Given the description of an element on the screen output the (x, y) to click on. 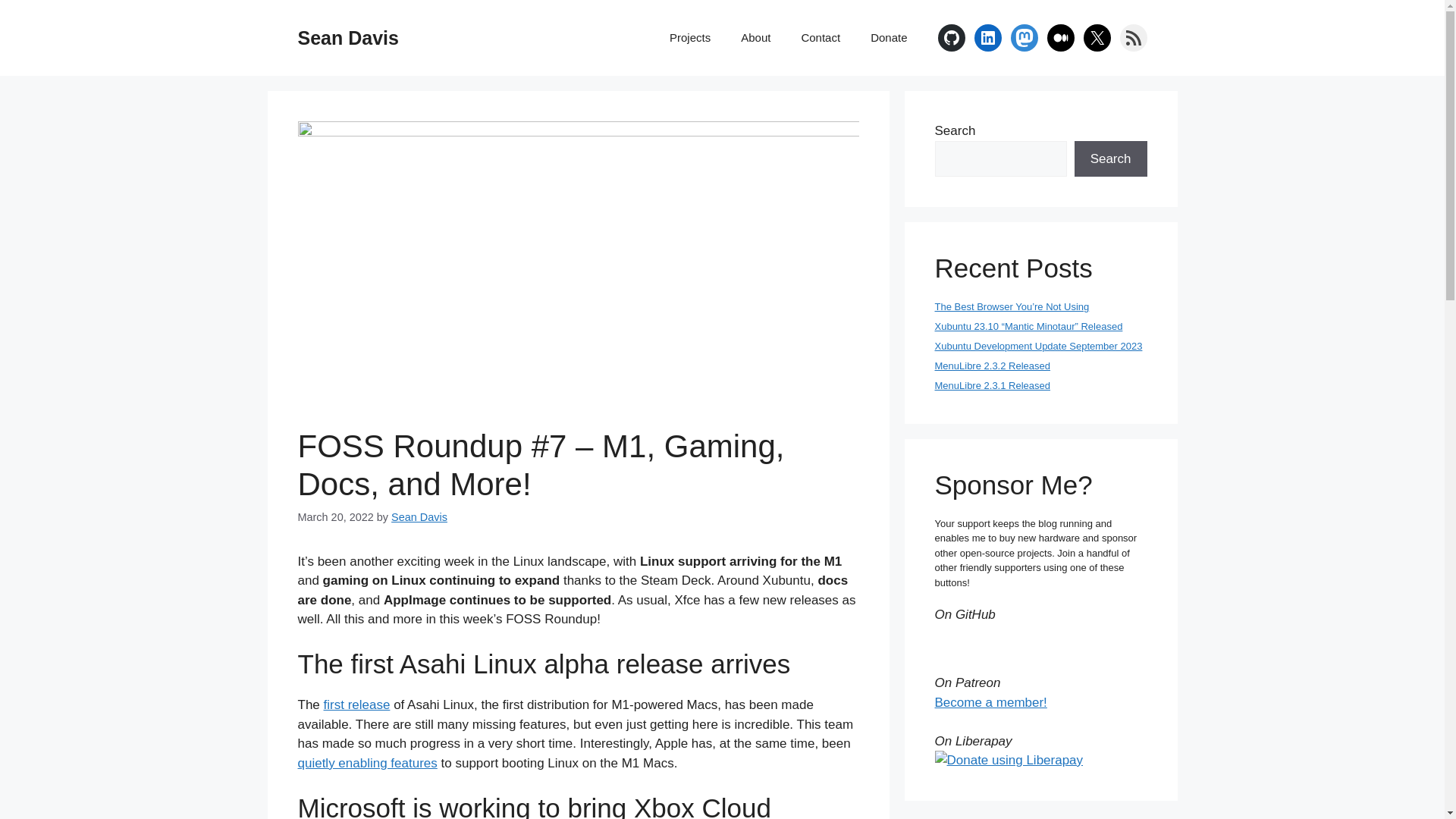
quietly enabling features (366, 762)
RSS Feed (1133, 37)
Donate (888, 37)
first release (356, 704)
Medium (1060, 37)
GitHub (950, 37)
View all posts by Sean Davis (418, 517)
Sponsor bluesabre (977, 636)
Mastodon (1023, 37)
Projects (689, 37)
Sean Davis (347, 37)
Contact (821, 37)
About (755, 37)
Sean Davis (418, 517)
LinkedIn (987, 37)
